Given the description of an element on the screen output the (x, y) to click on. 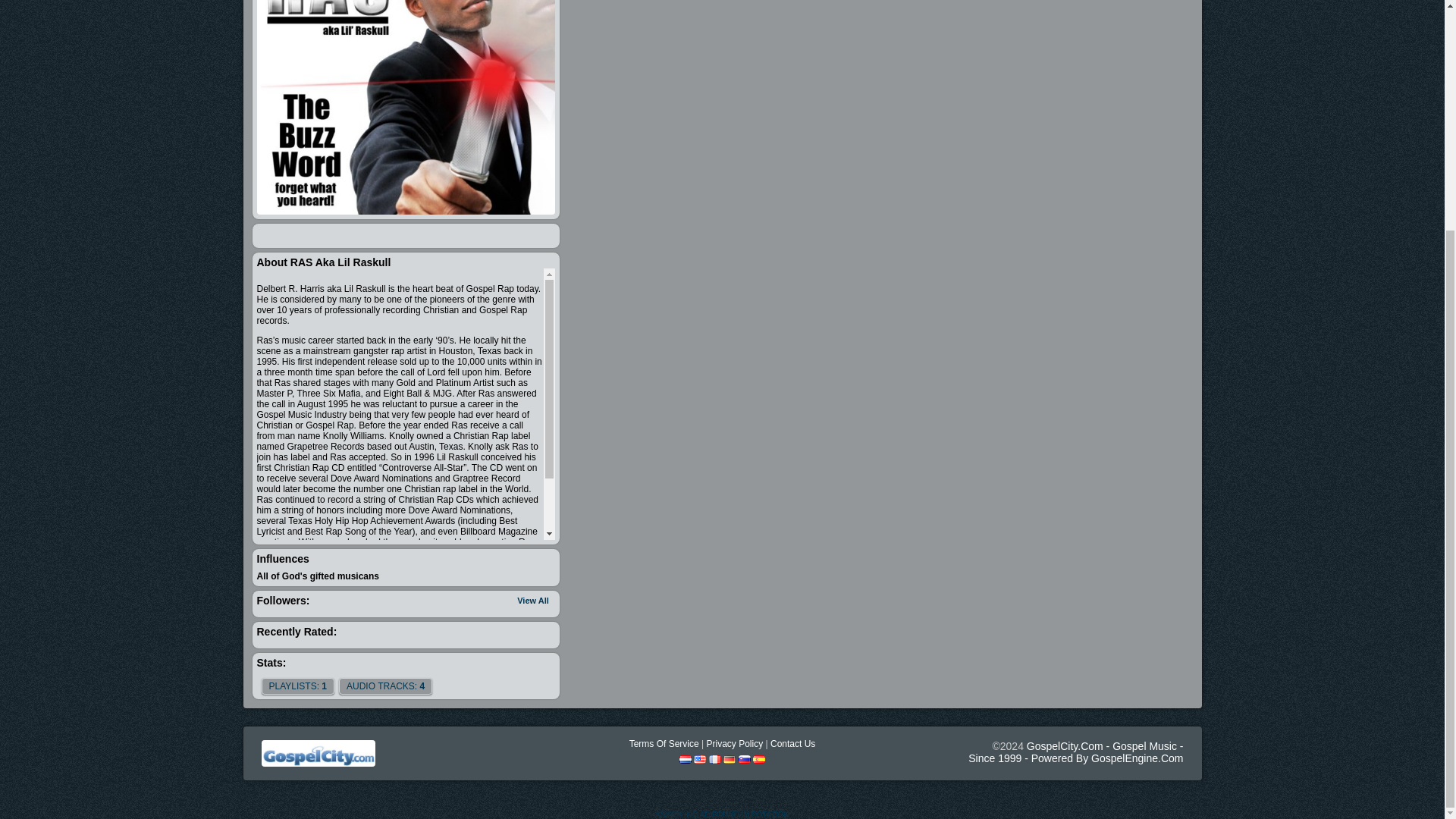
Spanish (758, 759)
View All (532, 600)
English US (700, 759)
French (714, 759)
Terms Of Service (663, 743)
Contact Us (792, 743)
AUDIO TRACKS: 4 (385, 685)
Privacy Policy (734, 743)
Slovenian (744, 759)
PLAYLISTS: 1 (296, 685)
Dutch (685, 759)
German (729, 759)
